Given the description of an element on the screen output the (x, y) to click on. 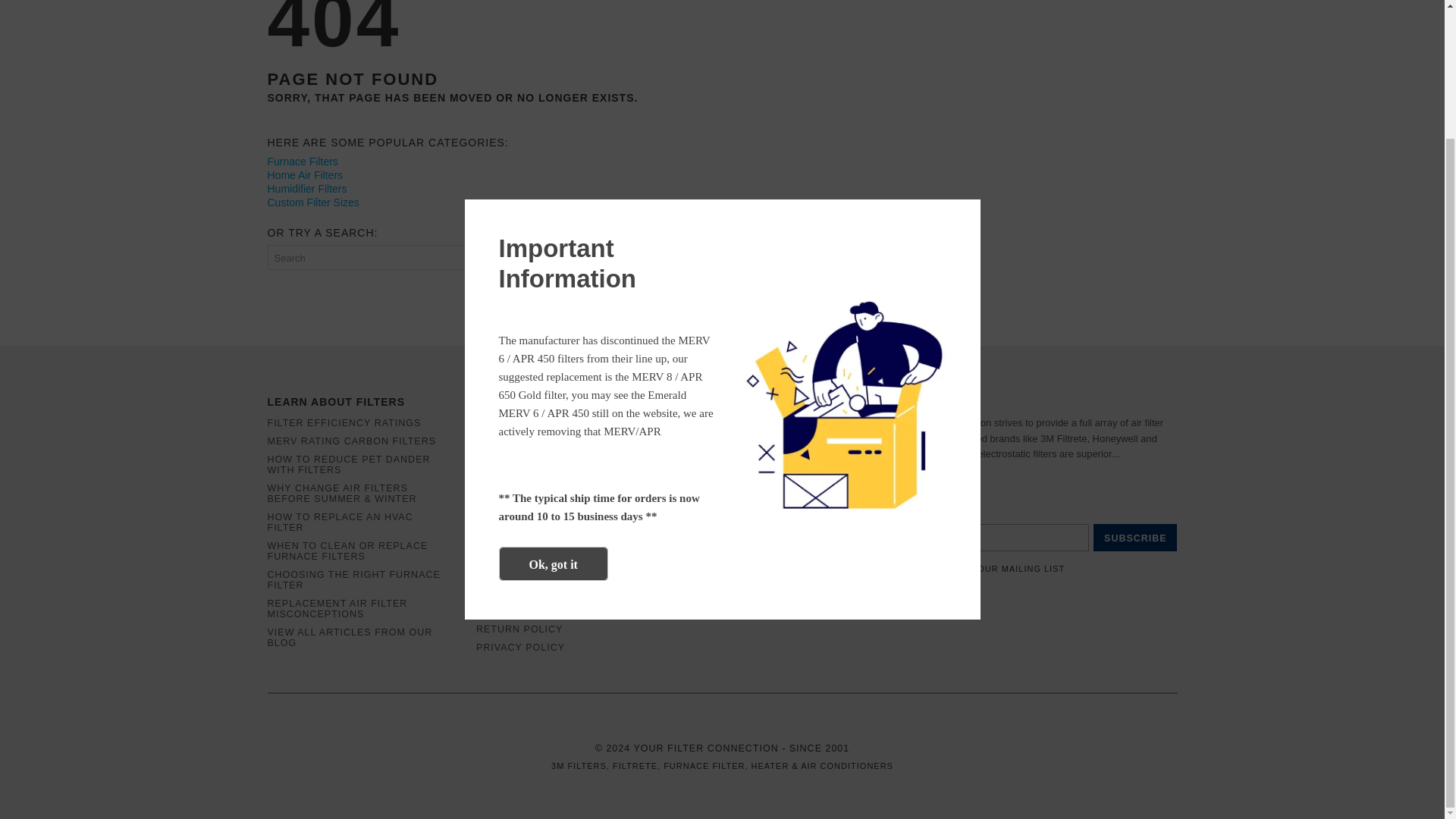
Search (526, 257)
Subscribe (1134, 537)
